Given the description of an element on the screen output the (x, y) to click on. 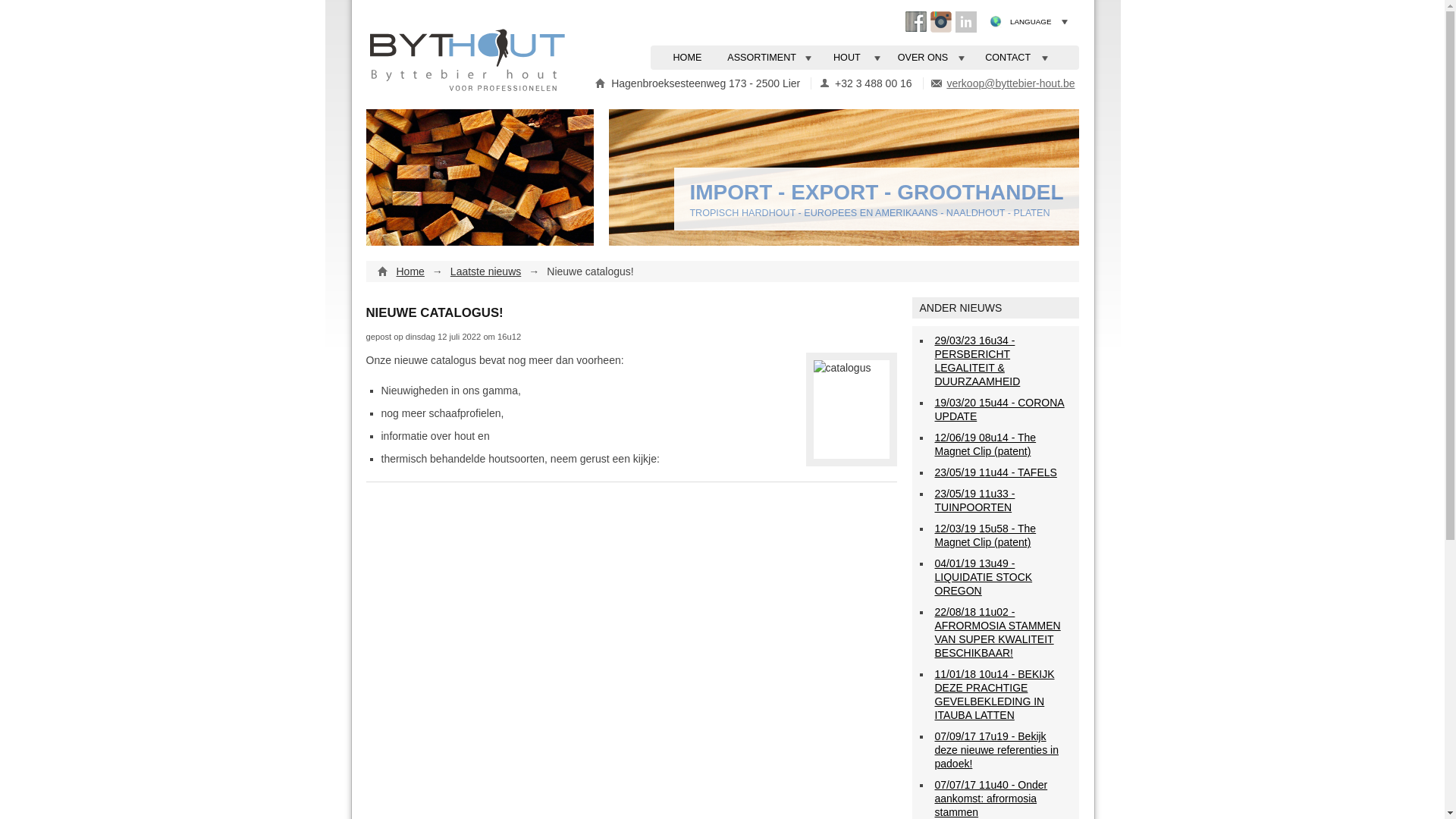
04/01/19 13u49 - LIQUIDATIE STOCK OREGON Element type: text (983, 576)
12/03/19 15u58 - The Magnet Clip (patent) Element type: text (984, 535)
Instagram Byttebier Hout Element type: text (939, 21)
12/06/19 08u14 - The Magnet Clip (patent) Element type: text (984, 444)
CONTACT Element type: text (1015, 57)
29/03/23 16u34 - PERSBERICHT LEGALITEIT & DUURZAAMHEID Element type: text (976, 360)
BYTTEBIER HOUT Element type: text (469, 60)
07/07/17 11u40 - Onder aankomst: afrormosia stammen Element type: text (990, 798)
23/05/19 11u33 - TUINPOORTEN Element type: text (974, 500)
ASSORTIMENT Element type: text (769, 57)
catalogus Element type: hover (850, 409)
HOUT Element type: text (854, 57)
Laatste nieuws Element type: text (485, 271)
LANGUAGE Element type: text (1040, 21)
Facebook Byttebier Hout Element type: text (915, 21)
19/03/20 15u44 - CORONA UPDATE Element type: text (998, 409)
OVER ONS Element type: text (930, 57)
07/09/17 17u19 - Bekijk deze nieuwe referenties in padoek! Element type: text (995, 749)
LinkedIn Byttebier Hout Element type: text (965, 21)
Home Element type: text (409, 271)
HOME Element type: text (687, 57)
verkoop@byttebier-hout.be Element type: text (1010, 83)
23/05/19 11u44 - TAFELS Element type: text (995, 472)
